Given the description of an element on the screen output the (x, y) to click on. 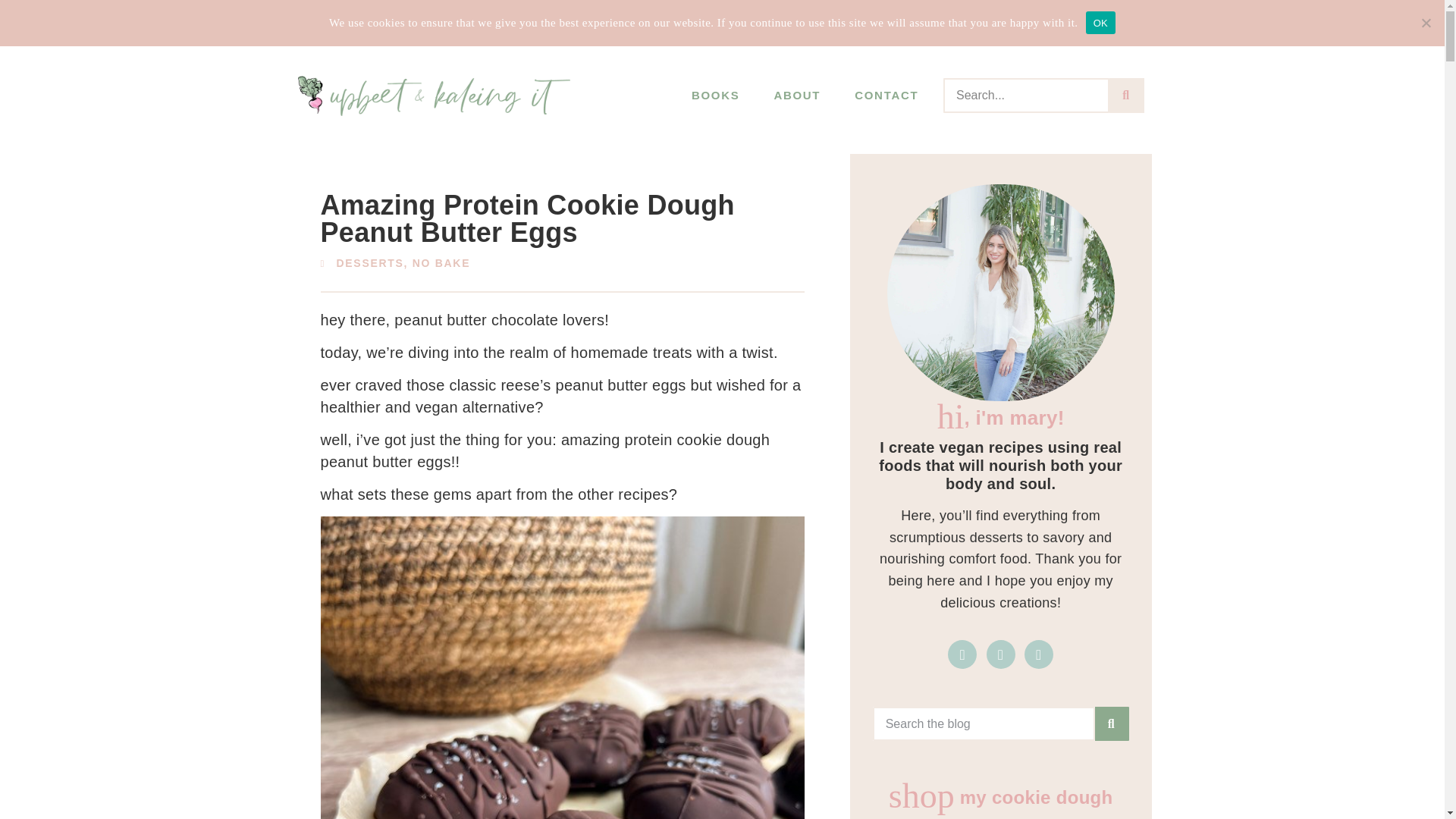
DESSERTS (620, 22)
BREAKFAST (335, 22)
SNACKS (730, 22)
No (1425, 22)
